Given the description of an element on the screen output the (x, y) to click on. 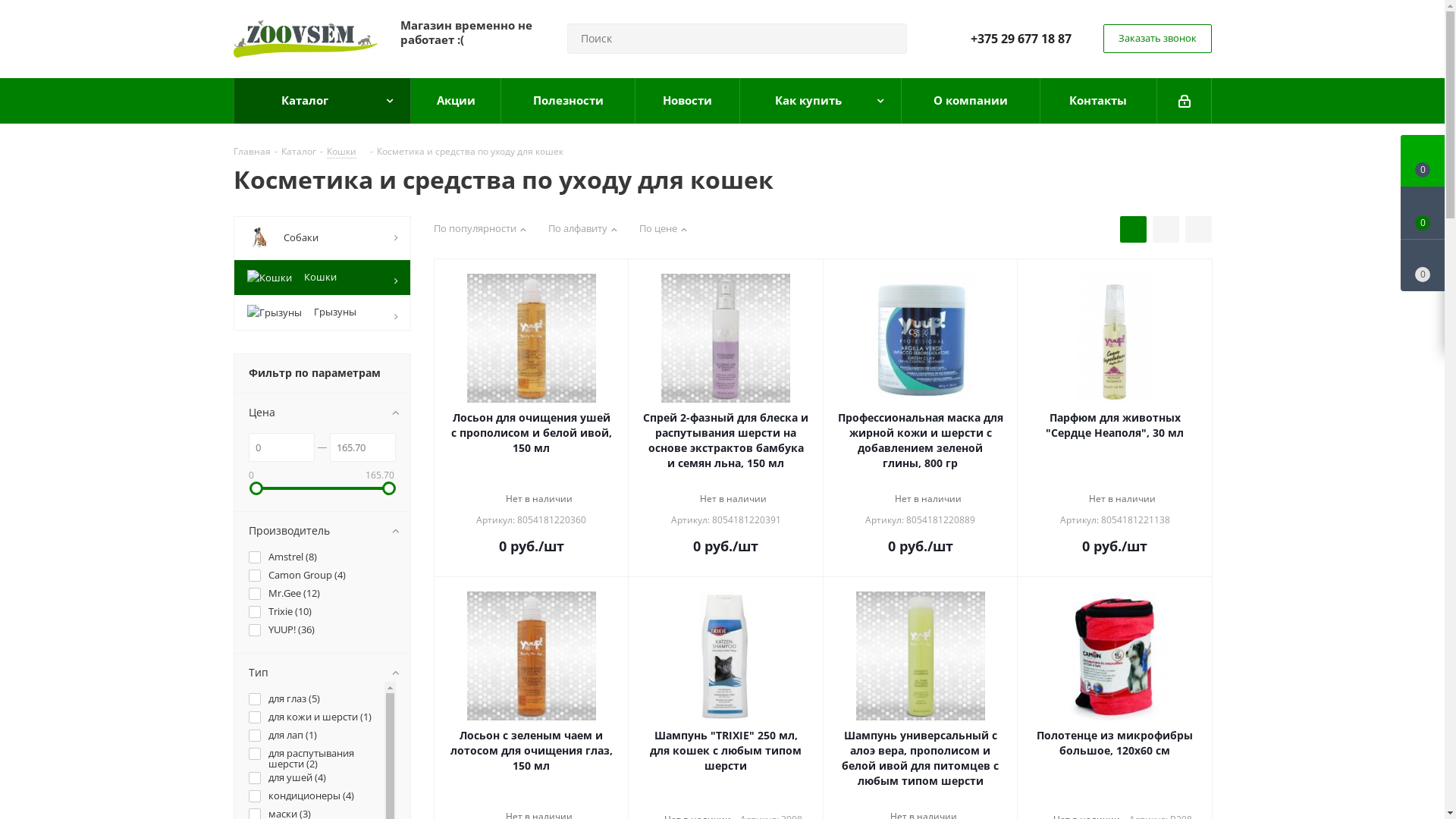
3 Element type: hover (919, 480)
3 Element type: hover (725, 798)
4 Element type: hover (542, 798)
Y Element type: text (4, 4)
1 Element type: hover (897, 798)
4 Element type: hover (737, 480)
3 Element type: hover (1114, 480)
2 Element type: hover (908, 480)
3 Element type: hover (530, 798)
2 Element type: hover (519, 480)
4 Element type: hover (737, 798)
3 Element type: hover (725, 480)
5 Element type: hover (748, 480)
1 Element type: hover (897, 480)
4 Element type: hover (931, 798)
1 Element type: hover (1092, 480)
5 Element type: hover (942, 798)
2 Element type: hover (908, 798)
Zoovsem Element type: hover (305, 38)
5 Element type: hover (1137, 798)
5 Element type: hover (1137, 480)
4 Element type: hover (1126, 480)
1 Element type: hover (703, 480)
4 Element type: hover (1126, 798)
4 Element type: hover (931, 480)
4 Element type: hover (542, 480)
2 Element type: hover (714, 480)
1 Element type: hover (703, 798)
1 Element type: hover (508, 480)
5 Element type: hover (748, 798)
5 Element type: hover (553, 480)
+375 29 677 18 87 Element type: text (1020, 38)
2 Element type: hover (519, 798)
1 Element type: hover (508, 798)
1 Element type: hover (1092, 798)
5 Element type: hover (553, 798)
2 Element type: hover (714, 798)
2 Element type: hover (1103, 798)
3 Element type: hover (919, 798)
2 Element type: hover (1103, 480)
5 Element type: hover (942, 480)
3 Element type: hover (1114, 798)
3 Element type: hover (530, 480)
